Given the description of an element on the screen output the (x, y) to click on. 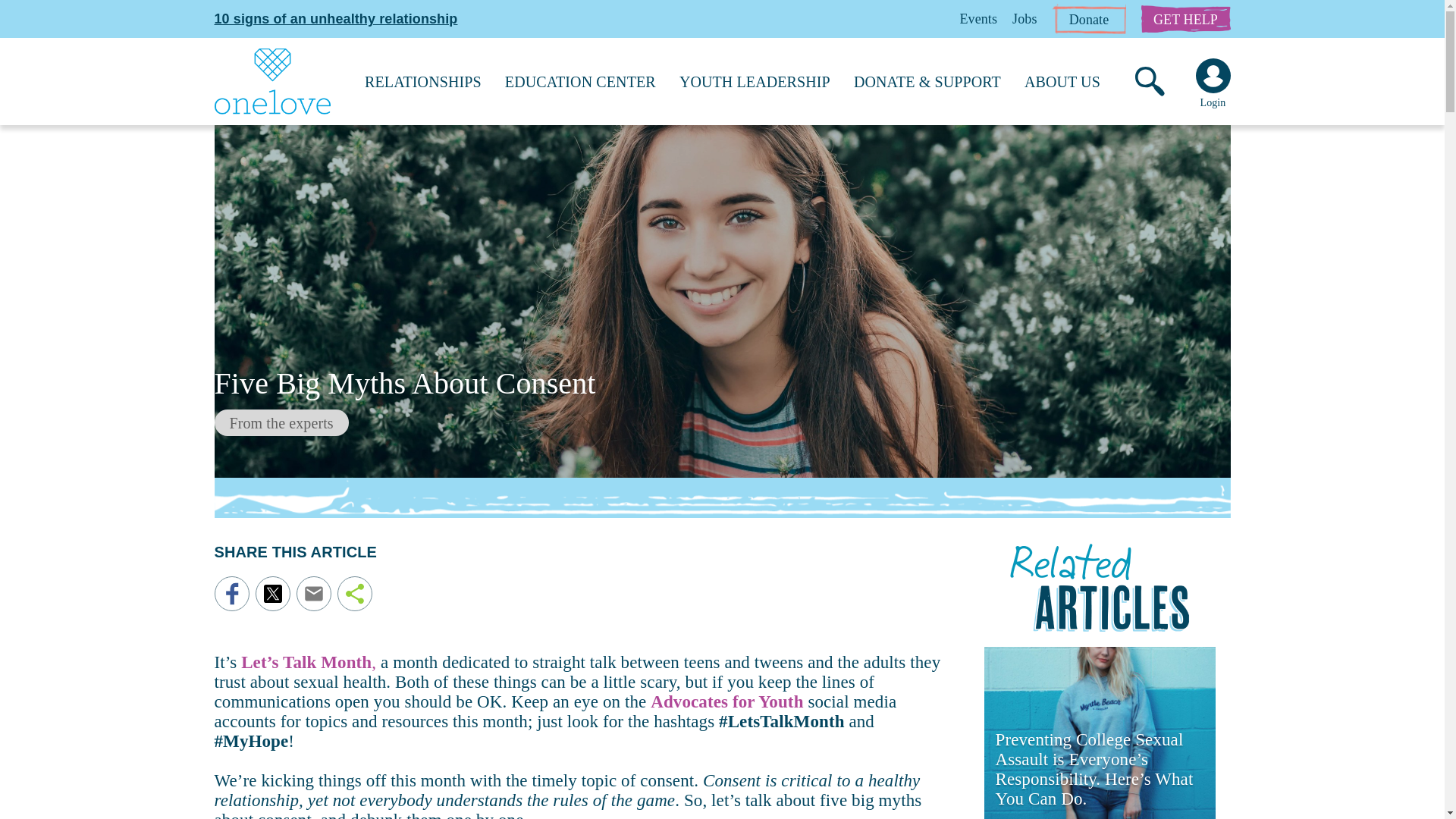
EDUCATION CENTER (580, 81)
Events (978, 18)
RELATIONSHIPS (423, 81)
Donate (1088, 19)
YOUTH LEADERSHIP (754, 81)
10 signs of an unhealthy relationship (335, 18)
GET HELP (1185, 18)
Jobs (1023, 18)
ABOUT US (1062, 81)
